Given the description of an element on the screen output the (x, y) to click on. 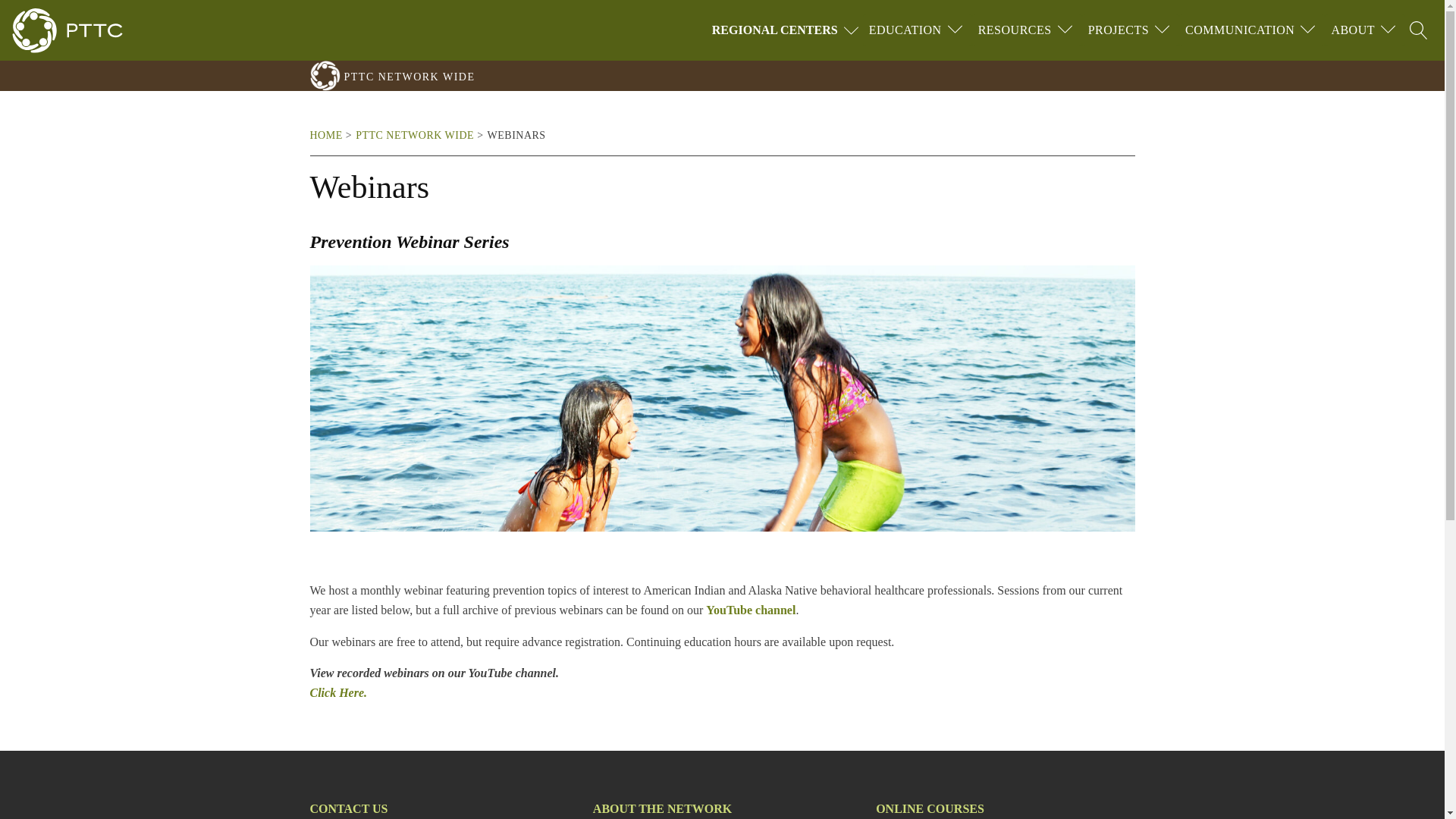
EDUCATION (905, 30)
RESOURCES (1015, 30)
REGIONAL CENTERS (787, 30)
PROJECTS (1117, 30)
